Given the description of an element on the screen output the (x, y) to click on. 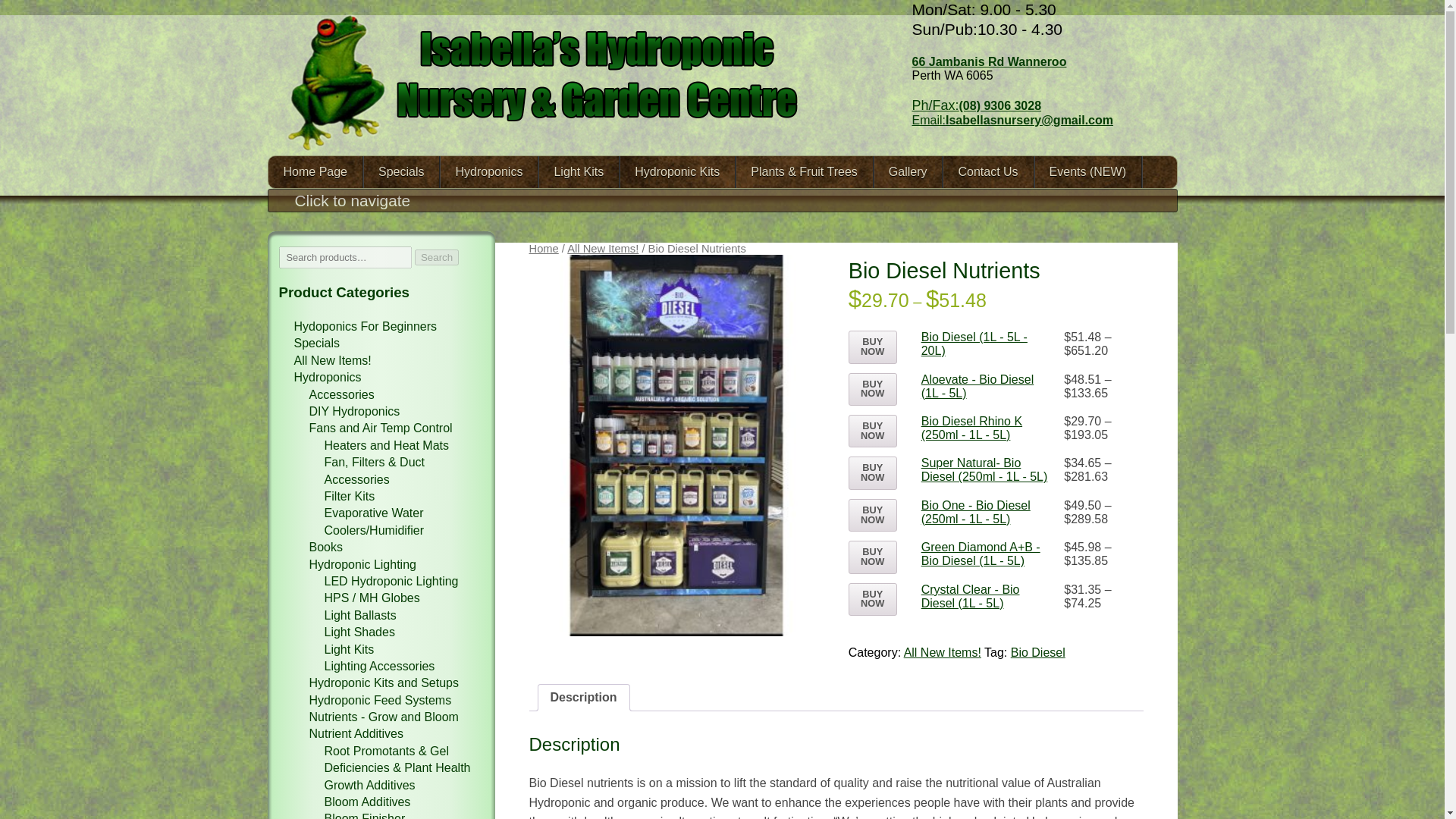
Hydroponics (488, 172)
Contact Us (987, 172)
Home (544, 248)
Search (436, 257)
bold (314, 172)
Bio Diesel (1037, 652)
Hydoponics For Beginners (366, 326)
Hydroponic Kits (677, 172)
Light Kits (578, 172)
Description (583, 697)
BUY NOW (872, 430)
BUY NOW (872, 556)
Home Page (314, 172)
BUY NOW (872, 346)
Gallery (907, 172)
